Given the description of an element on the screen output the (x, y) to click on. 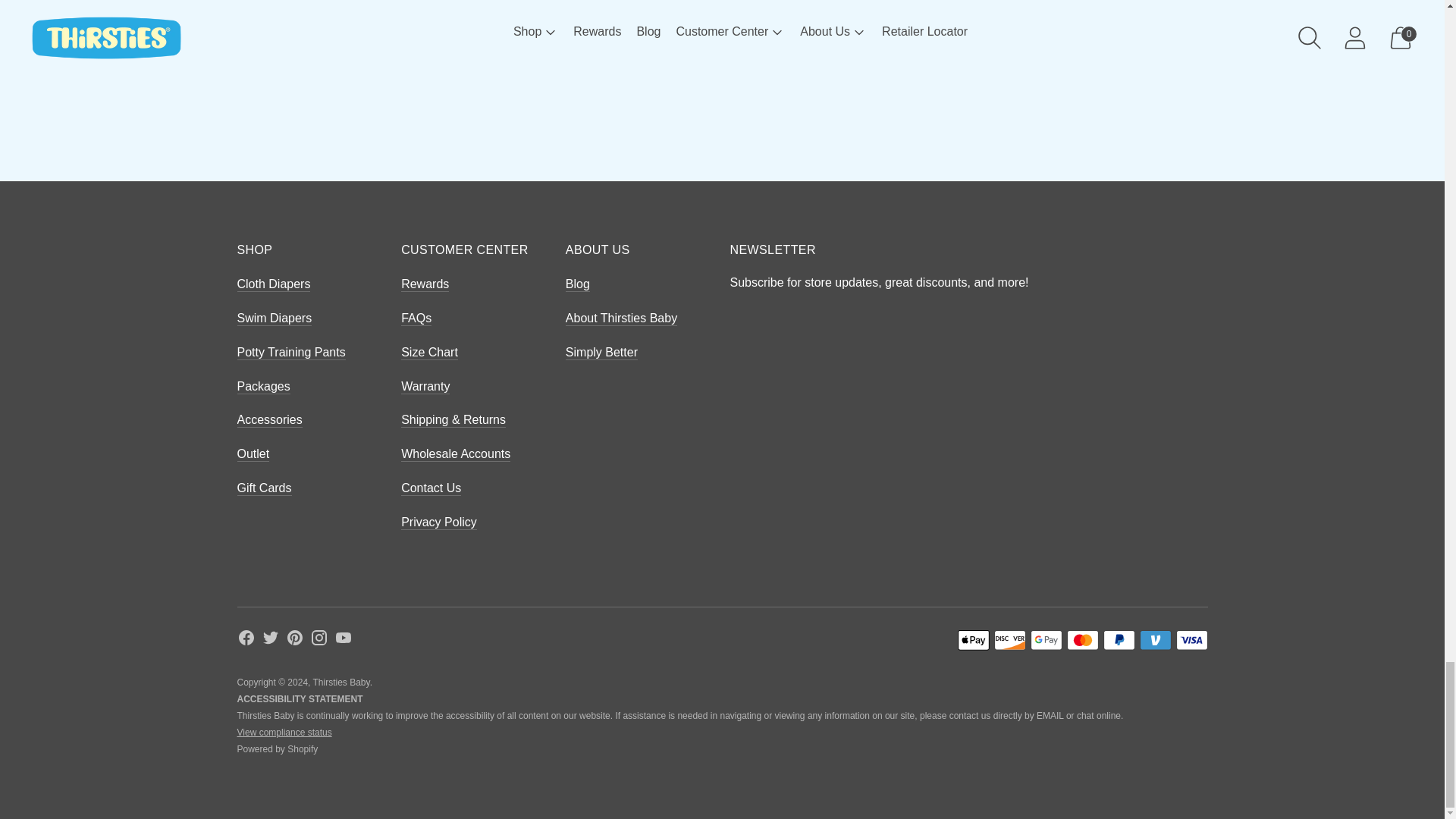
Google Pay (1045, 639)
Mastercard (1081, 639)
Venmo (1154, 639)
Apple Pay (972, 639)
PayPal (1118, 639)
Discover (1008, 639)
